Given the description of an element on the screen output the (x, y) to click on. 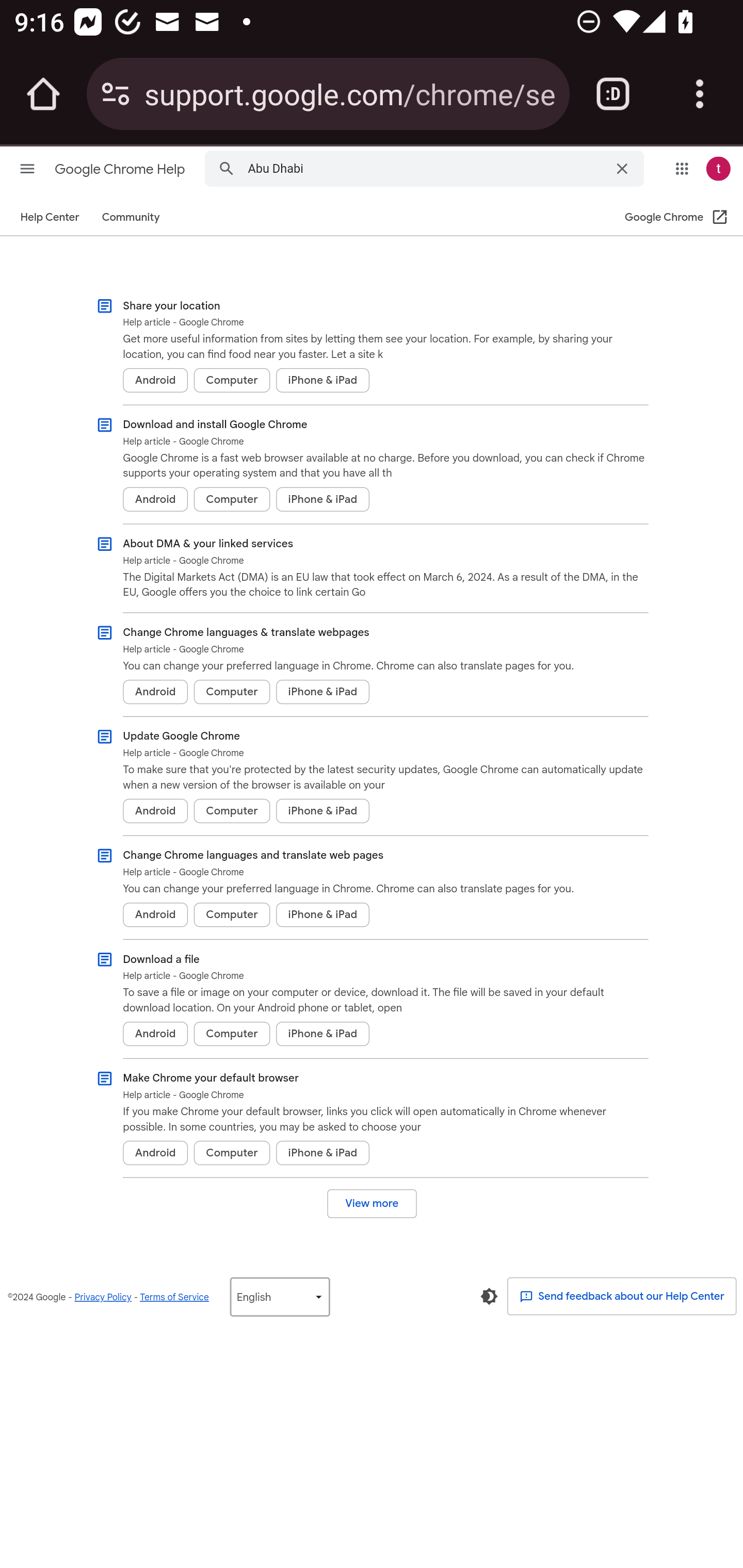
Open the home page (43, 93)
Connection is secure (115, 93)
Switch or close tabs (612, 93)
Customize and control Google Chrome (699, 93)
support.google.com/chrome/search?q=Abu+Dhabi (349, 92)
